Given the description of an element on the screen output the (x, y) to click on. 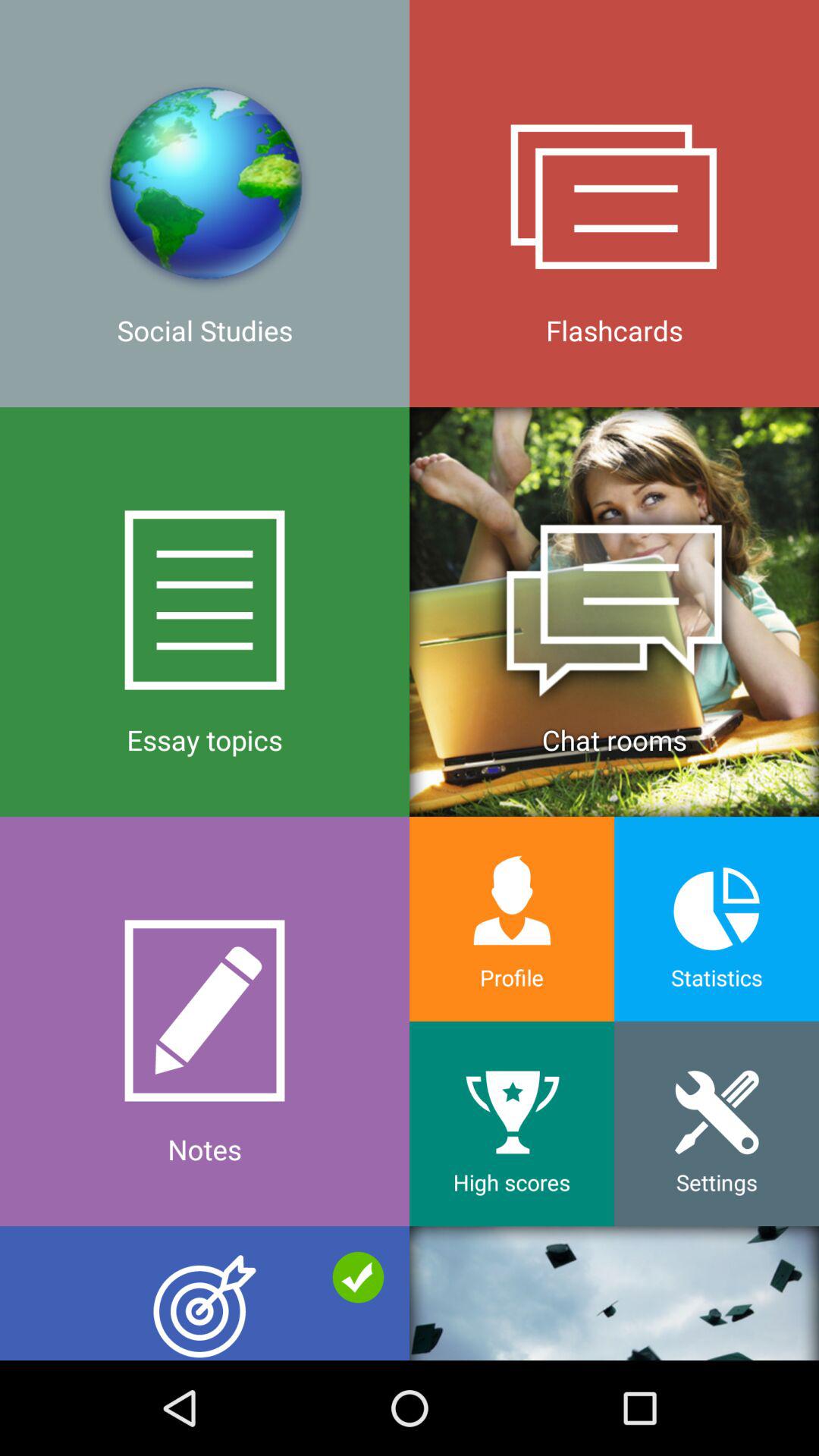
click the icon to the right of the social studies icon (614, 203)
